Given the description of an element on the screen output the (x, y) to click on. 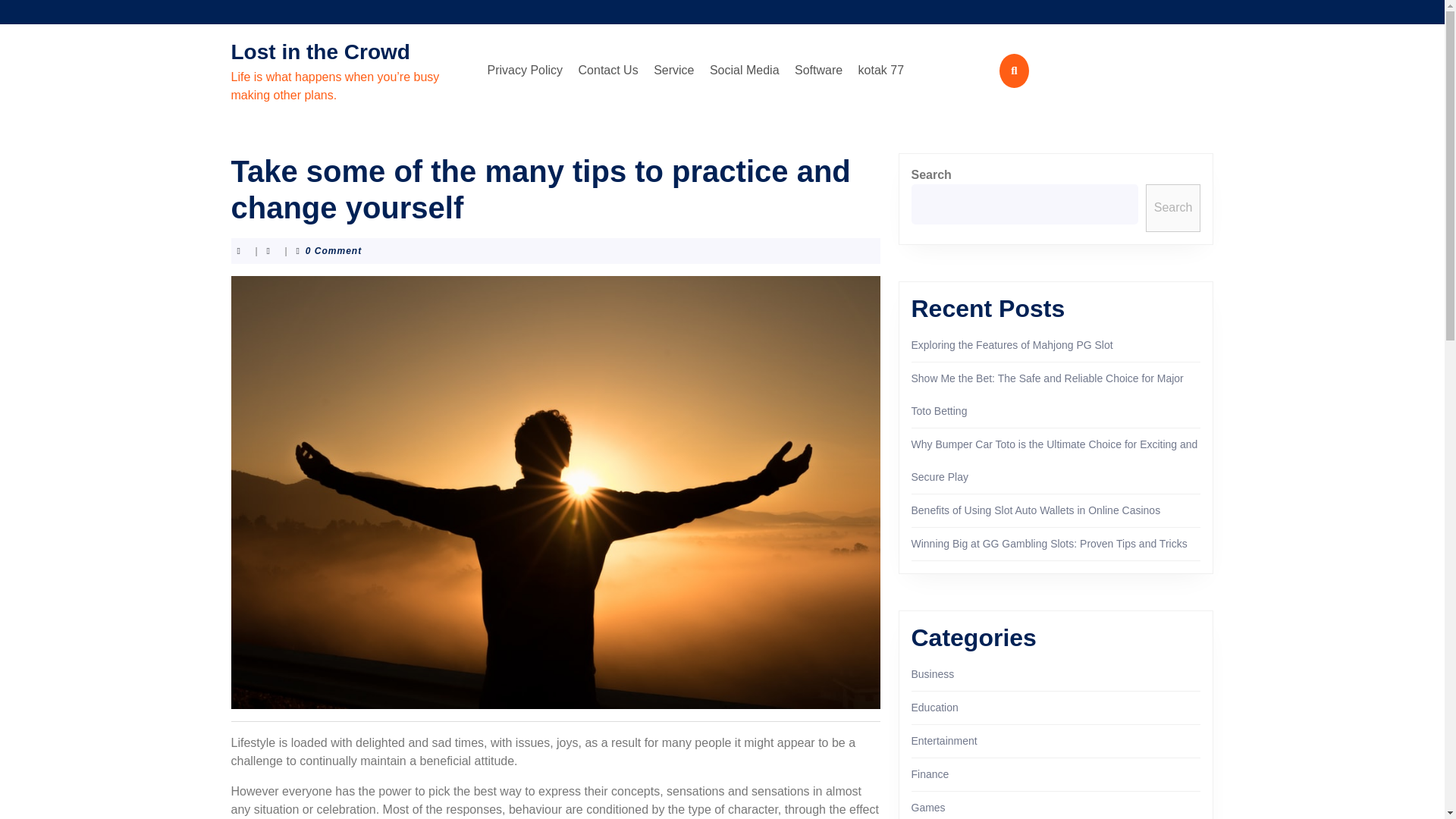
Search (1173, 207)
Software (818, 70)
Winning Big at GG Gambling Slots: Proven Tips and Tricks (1049, 543)
Exploring the Features of Mahjong PG Slot (1012, 345)
Business (933, 674)
Service (673, 70)
Education (934, 707)
Lost in the Crowd (319, 51)
Social Media (744, 70)
Privacy Policy (524, 70)
Finance (930, 774)
kotak 77 (880, 70)
Contact Us (608, 70)
